Given the description of an element on the screen output the (x, y) to click on. 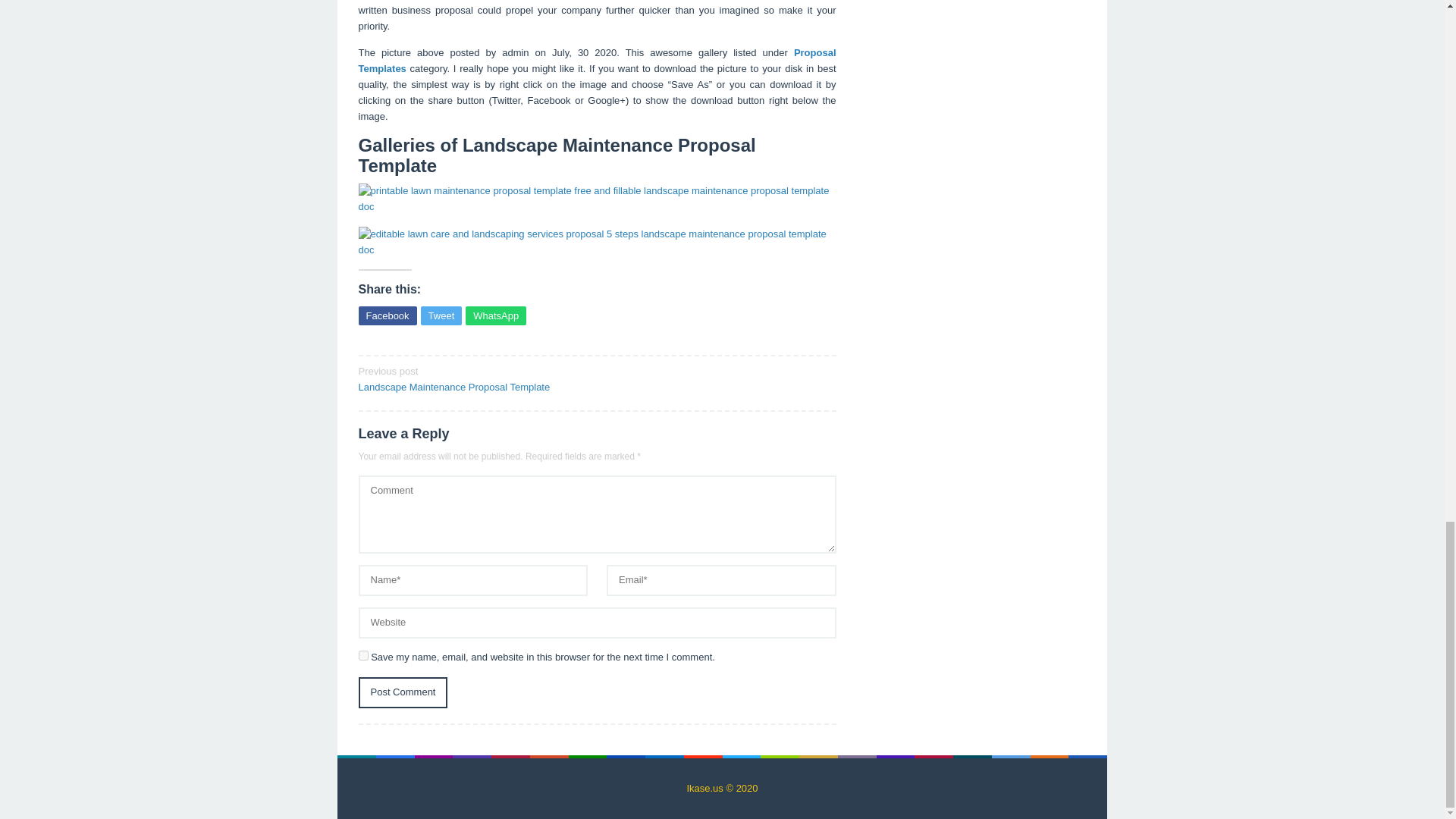
yes (363, 655)
Facebook (387, 315)
Tweet this (441, 315)
Post Comment (402, 692)
WhatsApp this (495, 315)
Proposal Templates (596, 60)
Tweet (441, 315)
WhatsApp (472, 378)
Post Comment (495, 315)
Share this (402, 692)
